Given the description of an element on the screen output the (x, y) to click on. 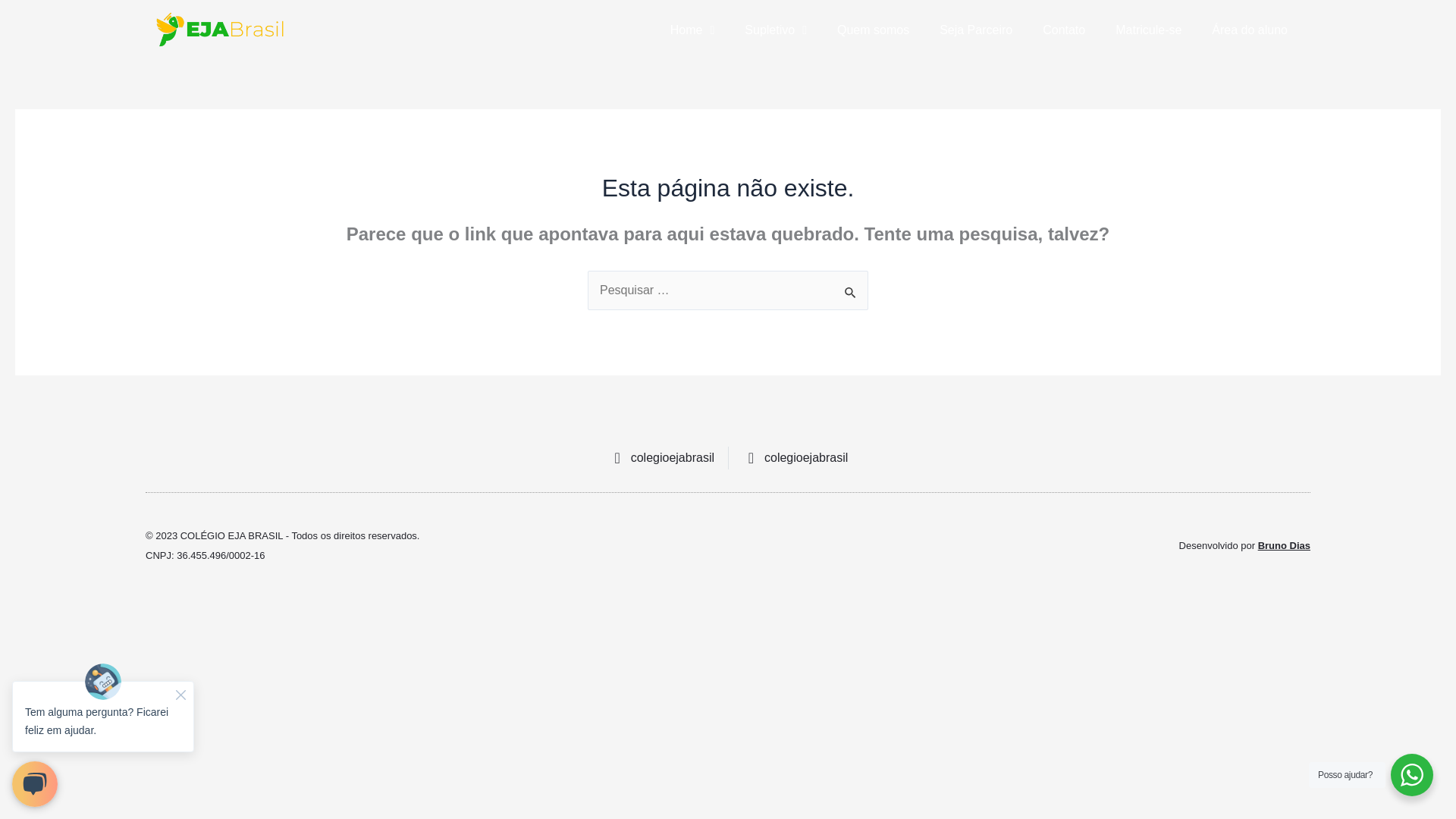
Supletivo (775, 30)
Contato (1063, 30)
Matricule-se (1148, 30)
Home (692, 30)
Quem somos (873, 30)
Seja Parceiro (975, 30)
